Given the description of an element on the screen output the (x, y) to click on. 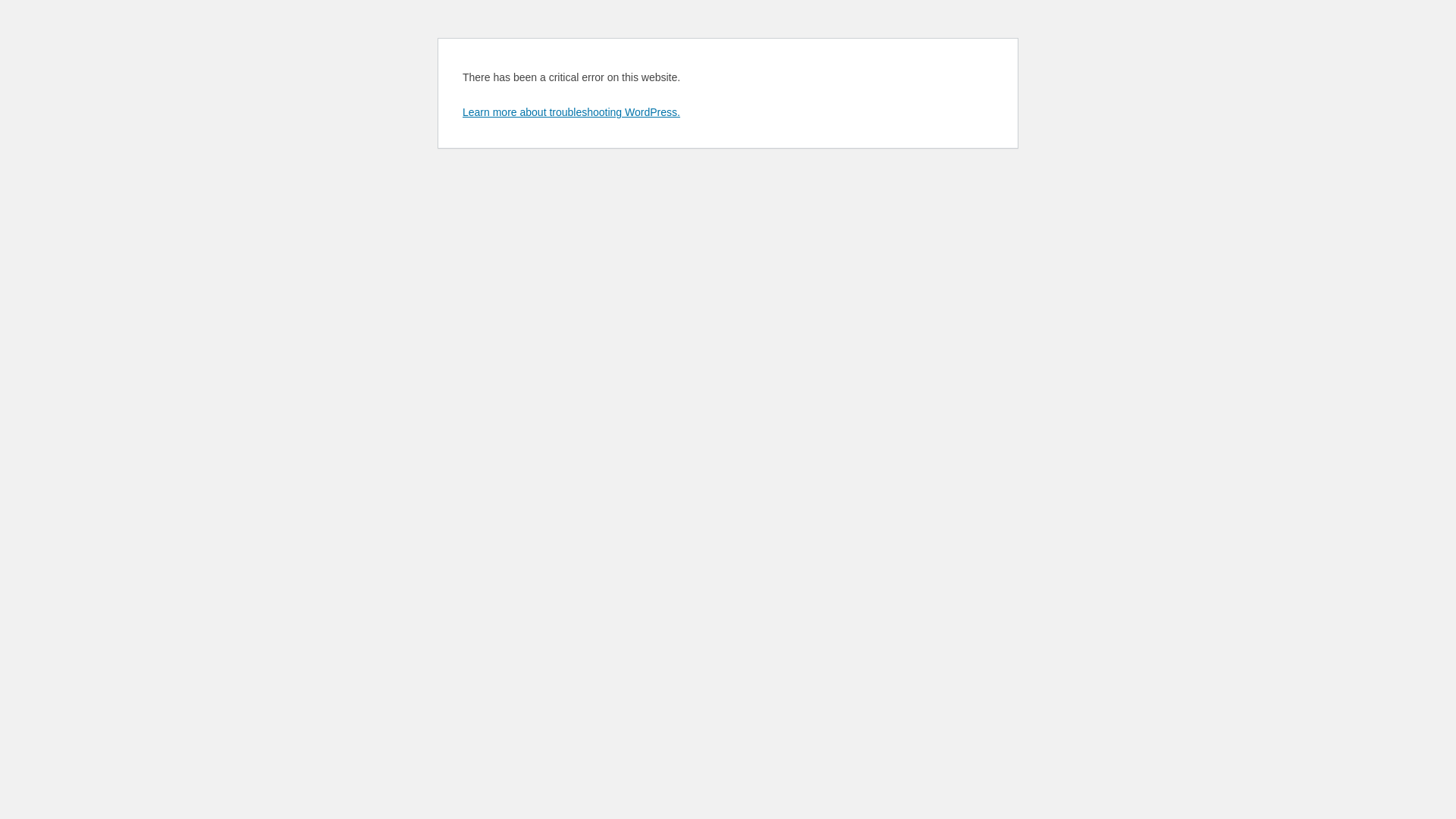
Learn more about troubleshooting WordPress. Element type: text (571, 112)
